Given the description of an element on the screen output the (x, y) to click on. 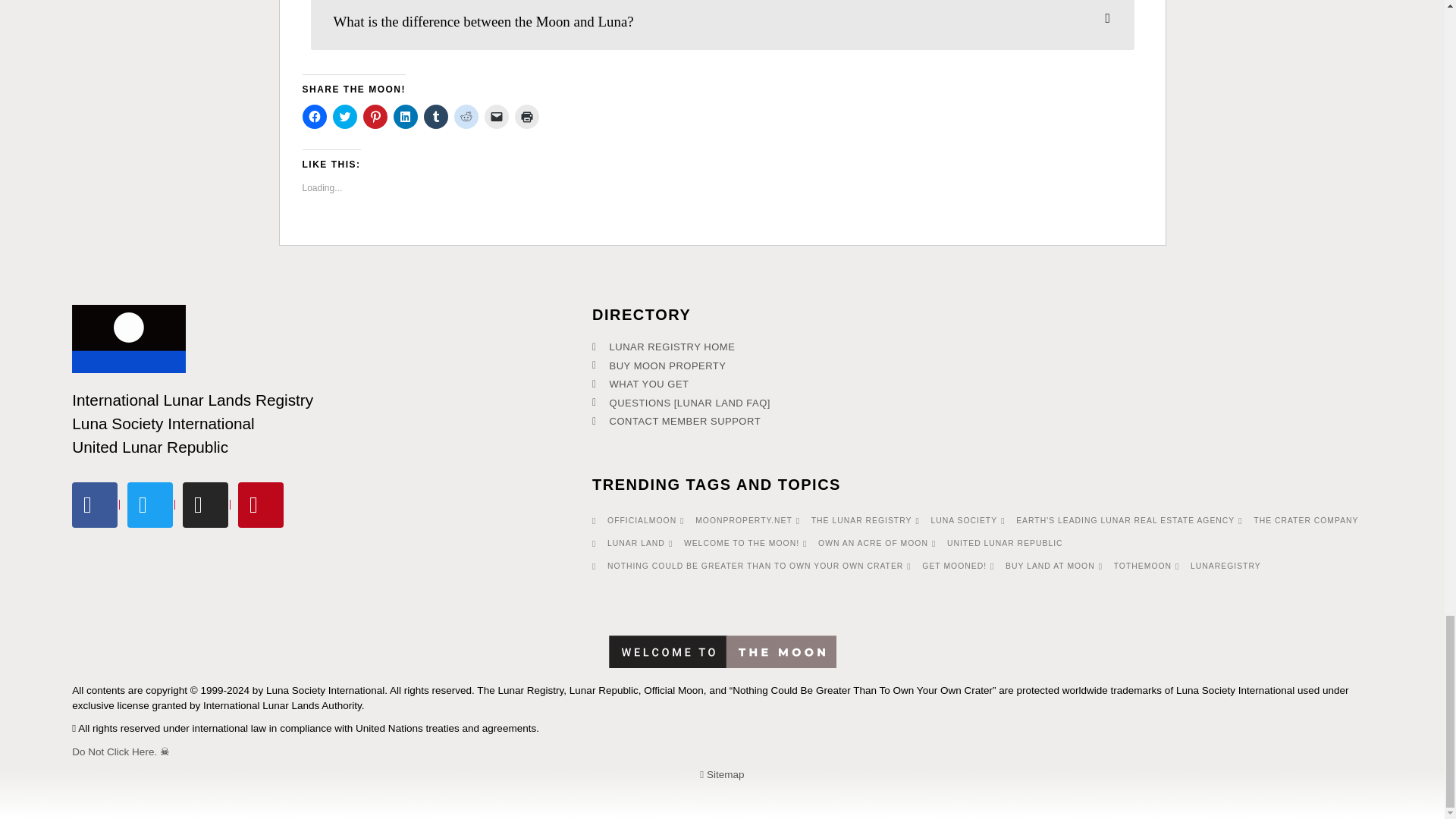
Click to share on Tumblr (434, 116)
Click to share on Pinterest (374, 116)
Click to print (525, 116)
Click to share on Reddit (464, 116)
Click to email a link to a friend (495, 116)
Click to share on Facebook (313, 116)
Click to share on LinkedIn (404, 116)
Click to share on Twitter (343, 116)
